Given the description of an element on the screen output the (x, y) to click on. 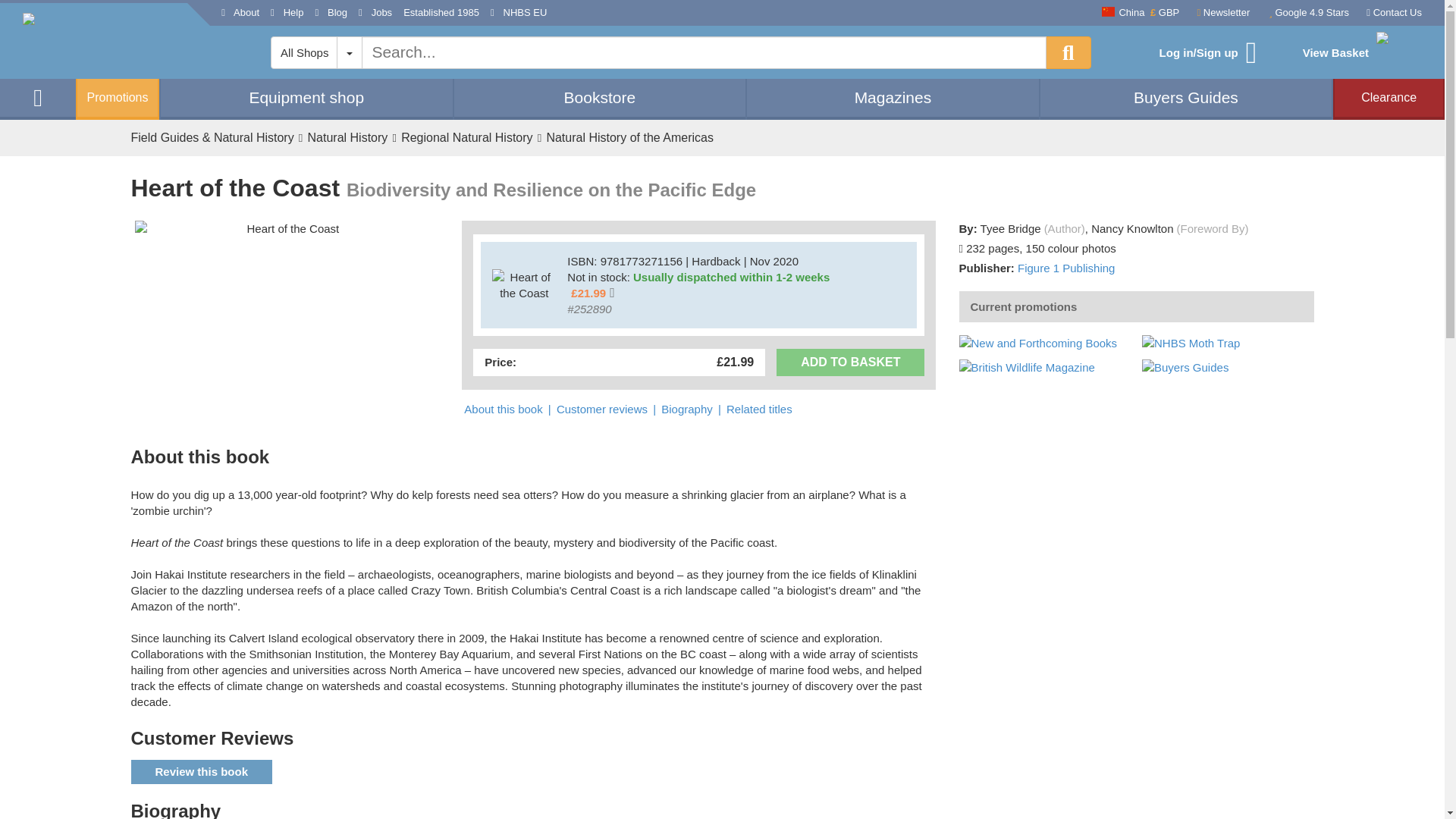
Blog (330, 12)
Contact Us (1390, 12)
Back to NHBS (105, 40)
VAT exempt (590, 293)
Promotions (116, 98)
Promotions (116, 98)
Help (286, 12)
Newsletter (1220, 14)
Buyers Guides (1186, 97)
Clearance (1388, 97)
